Given the description of an element on the screen output the (x, y) to click on. 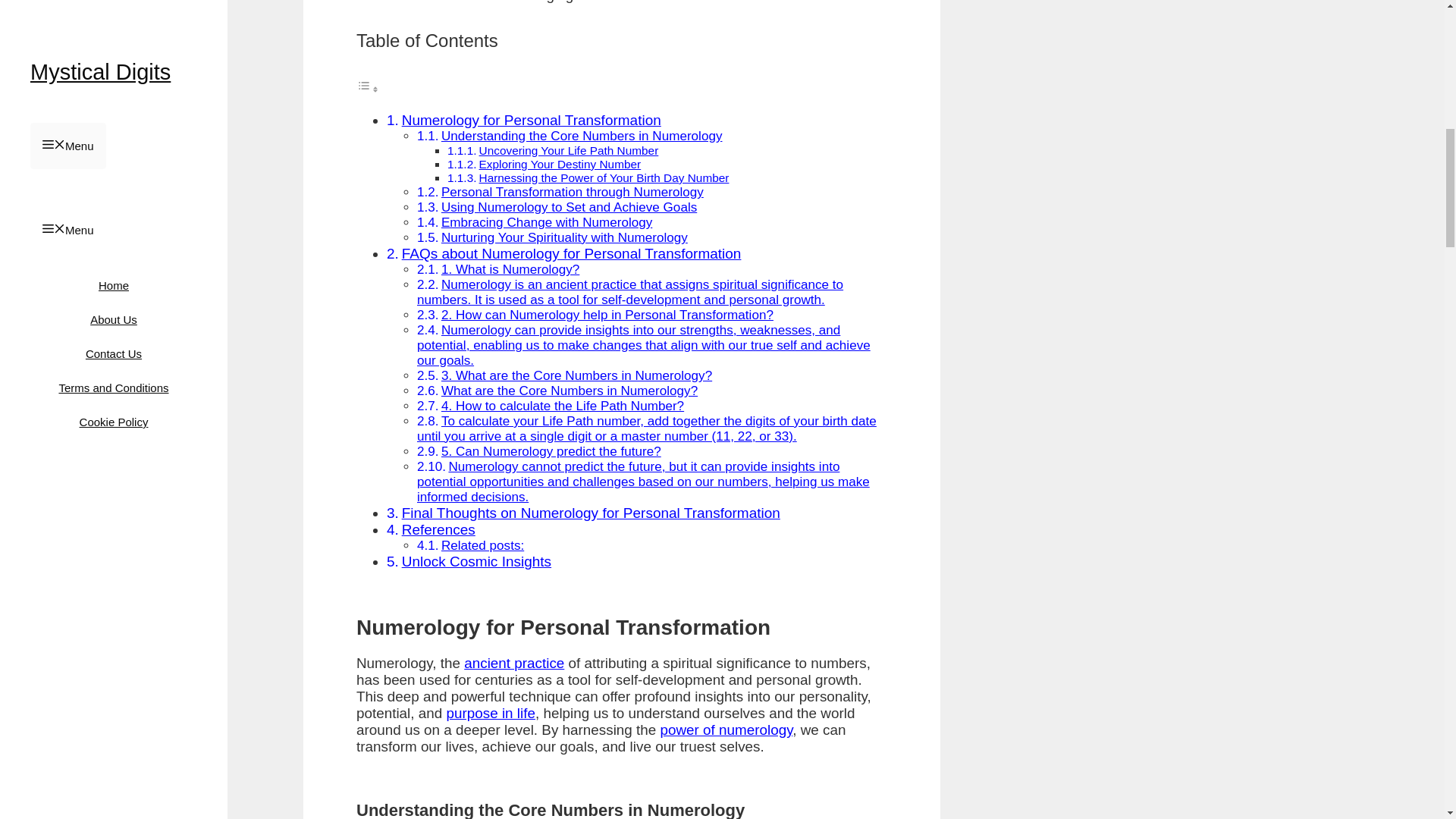
2. How can Numerology help in Personal Transformation? (607, 314)
Nurturing Your Spirituality with Numerology (564, 237)
2. How can Numerology help in Personal Transformation? (607, 314)
Using Numerology to Set and Achieve Goals (569, 206)
Nurturing Your Spirituality with Numerology (564, 237)
Numerology for Personal Transformation (531, 119)
3. What are the Core Numbers in Numerology? (576, 375)
Using Numerology to Set and Achieve Goals (569, 206)
Harnessing the Power of Your Birth Day Number (604, 177)
Numerology for Personal Transformation (531, 119)
Uncovering Your Life Path Number (569, 150)
4. How to calculate the Life Path Number? (562, 405)
What are the Core Numbers in Numerology? (569, 391)
